Given the description of an element on the screen output the (x, y) to click on. 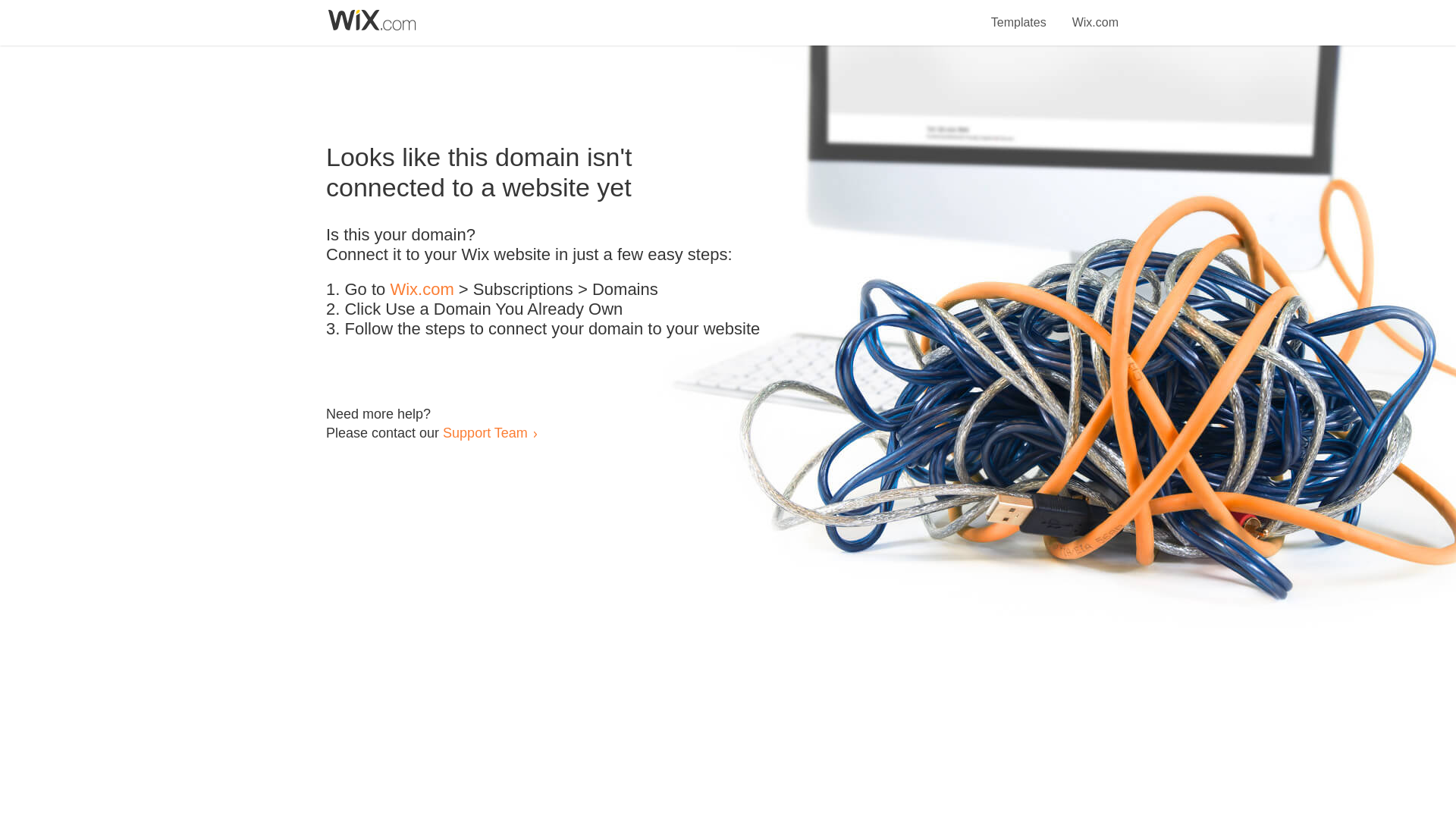
Wix.com (1095, 14)
Wix.com (421, 289)
Templates (1018, 14)
Support Team (484, 432)
